Given the description of an element on the screen output the (x, y) to click on. 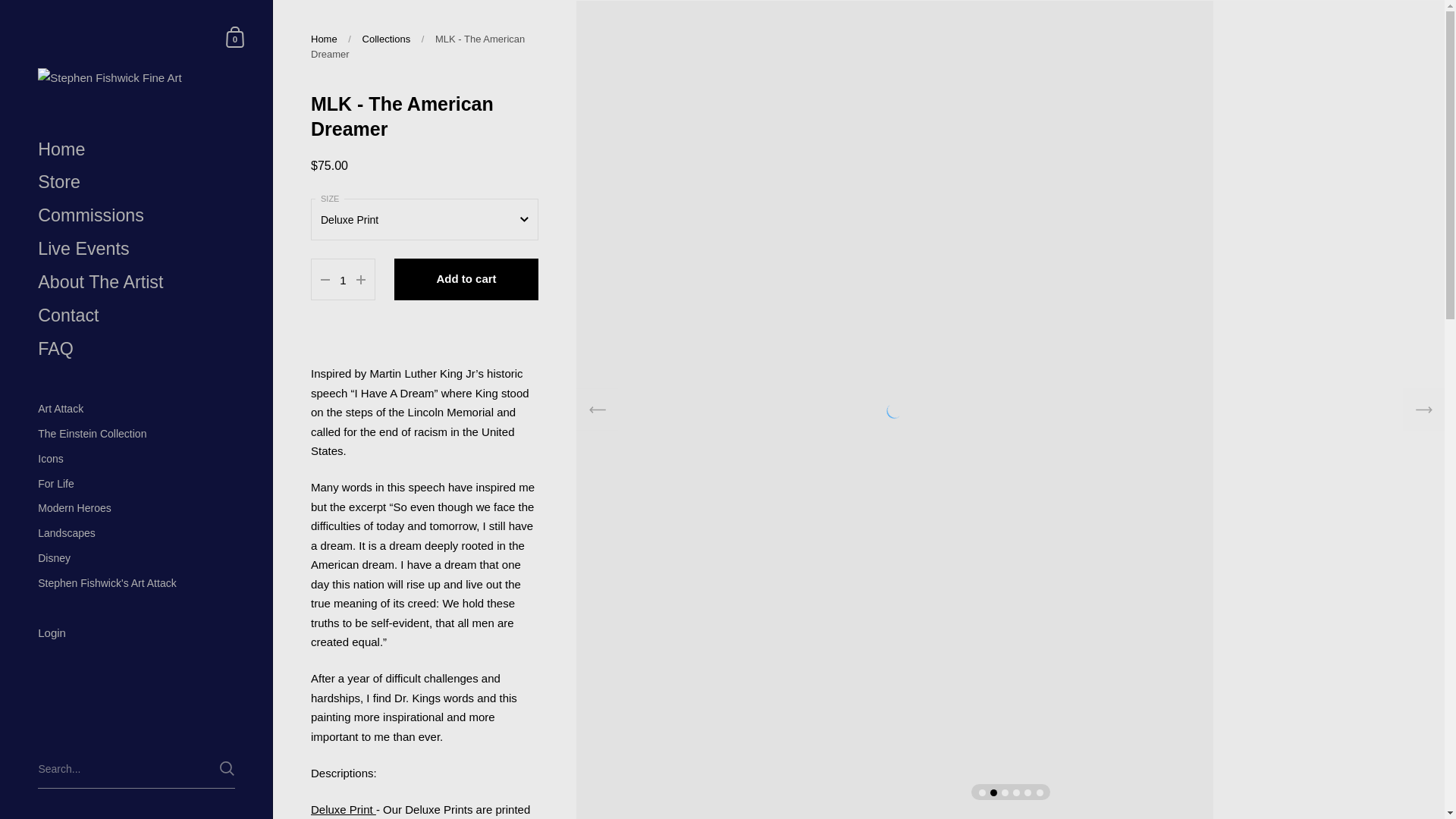
Commissions (136, 215)
Add to cart (466, 279)
Stephen Fishwick's Art Attack (136, 583)
Login (136, 634)
Icons (136, 458)
Modern Heroes (136, 508)
The Einstein Collection (136, 433)
1 (342, 280)
Contact (136, 315)
Home (324, 39)
Art Attack (136, 408)
Disney (136, 558)
Shopping Cart (235, 35)
Landscapes (136, 533)
Collections (386, 39)
